Given the description of an element on the screen output the (x, y) to click on. 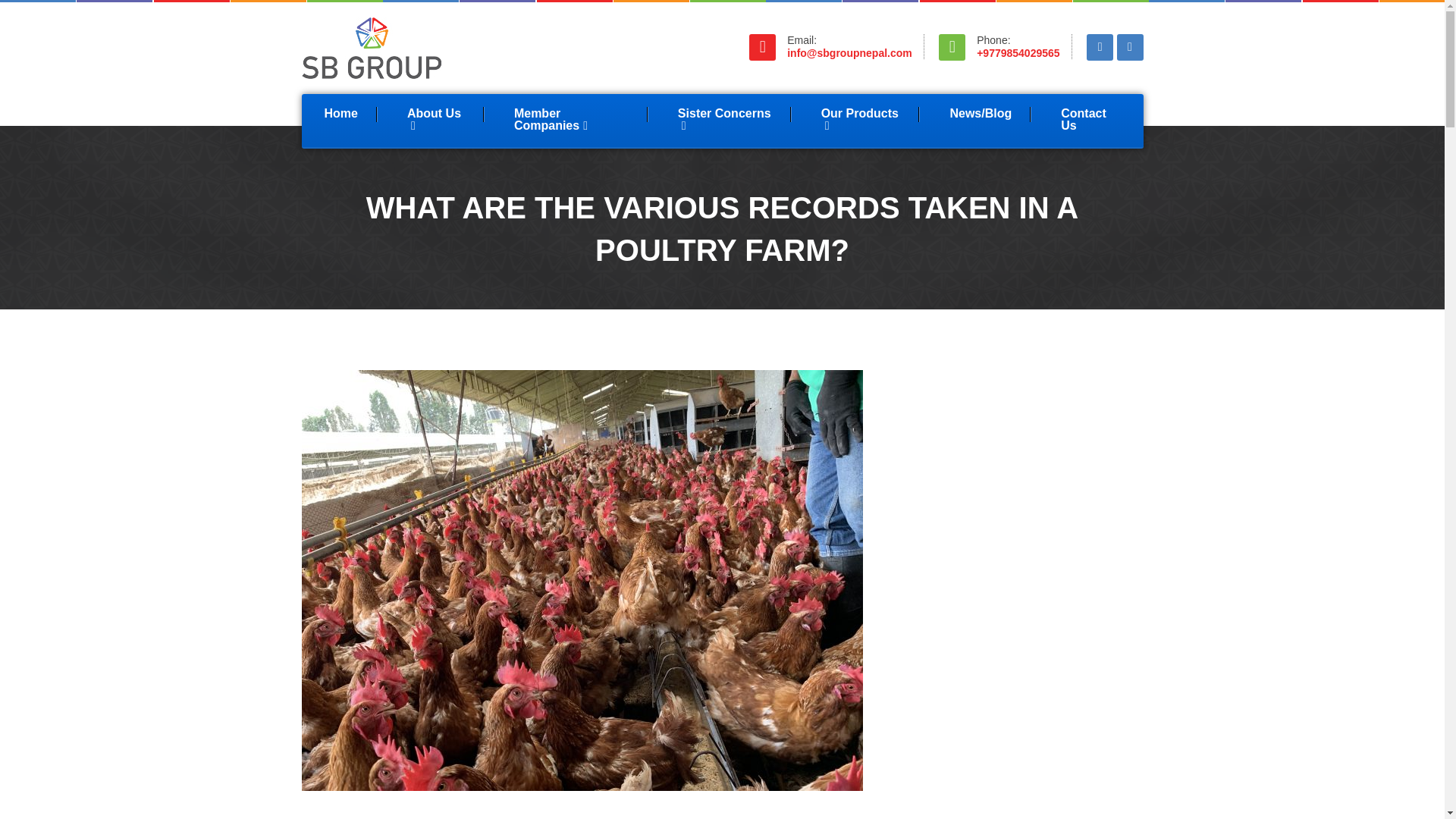
Contact Us (1090, 120)
Sister Concerns (724, 120)
Member Companies (570, 120)
About Us (435, 120)
Our Products (861, 120)
